Given the description of an element on the screen output the (x, y) to click on. 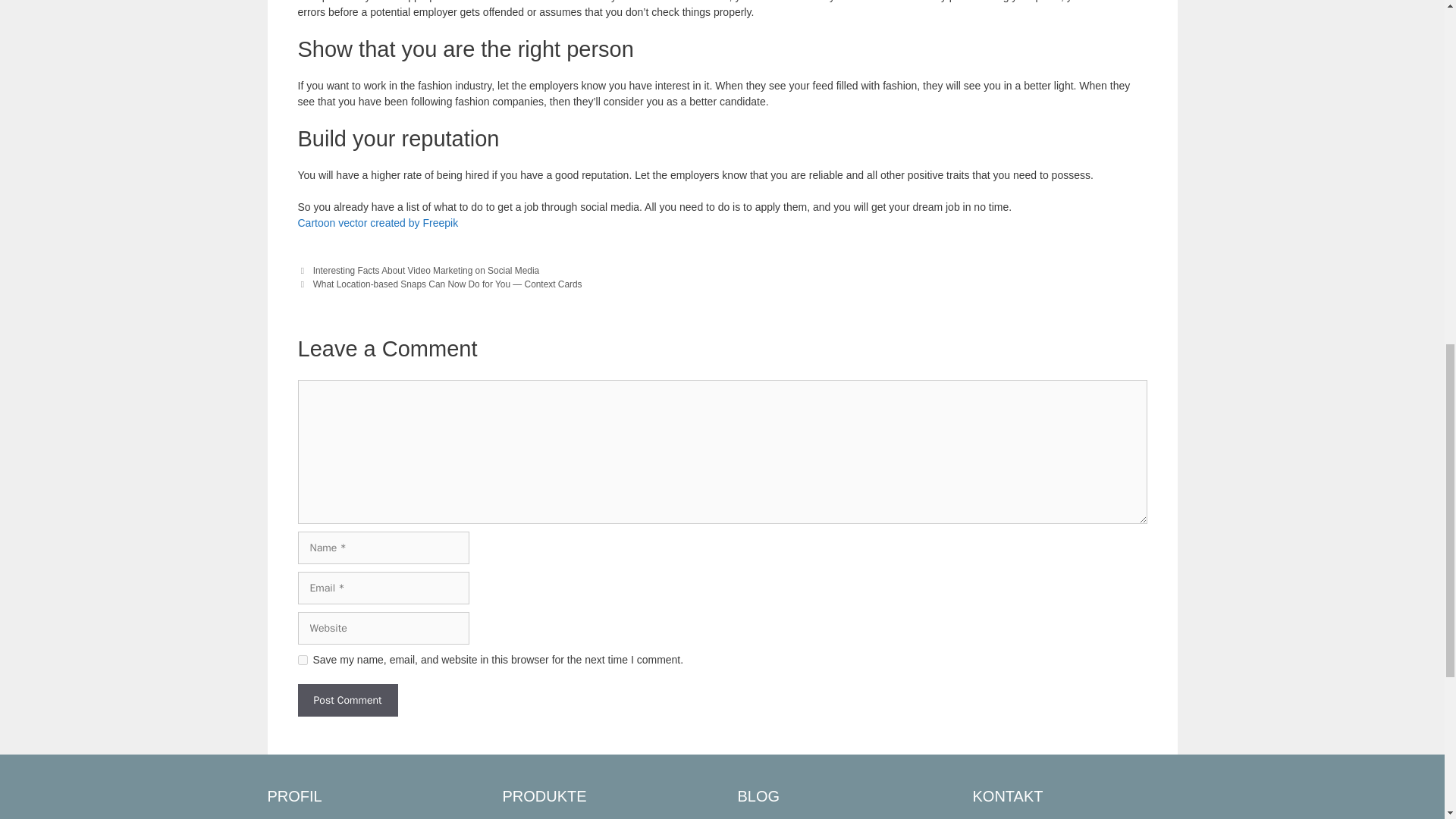
Interesting Facts About Video Marketing on Social Media (426, 270)
yes (302, 660)
Post Comment (347, 699)
Post Comment (347, 699)
Cartoon vector created by Freepik (377, 223)
